Given the description of an element on the screen output the (x, y) to click on. 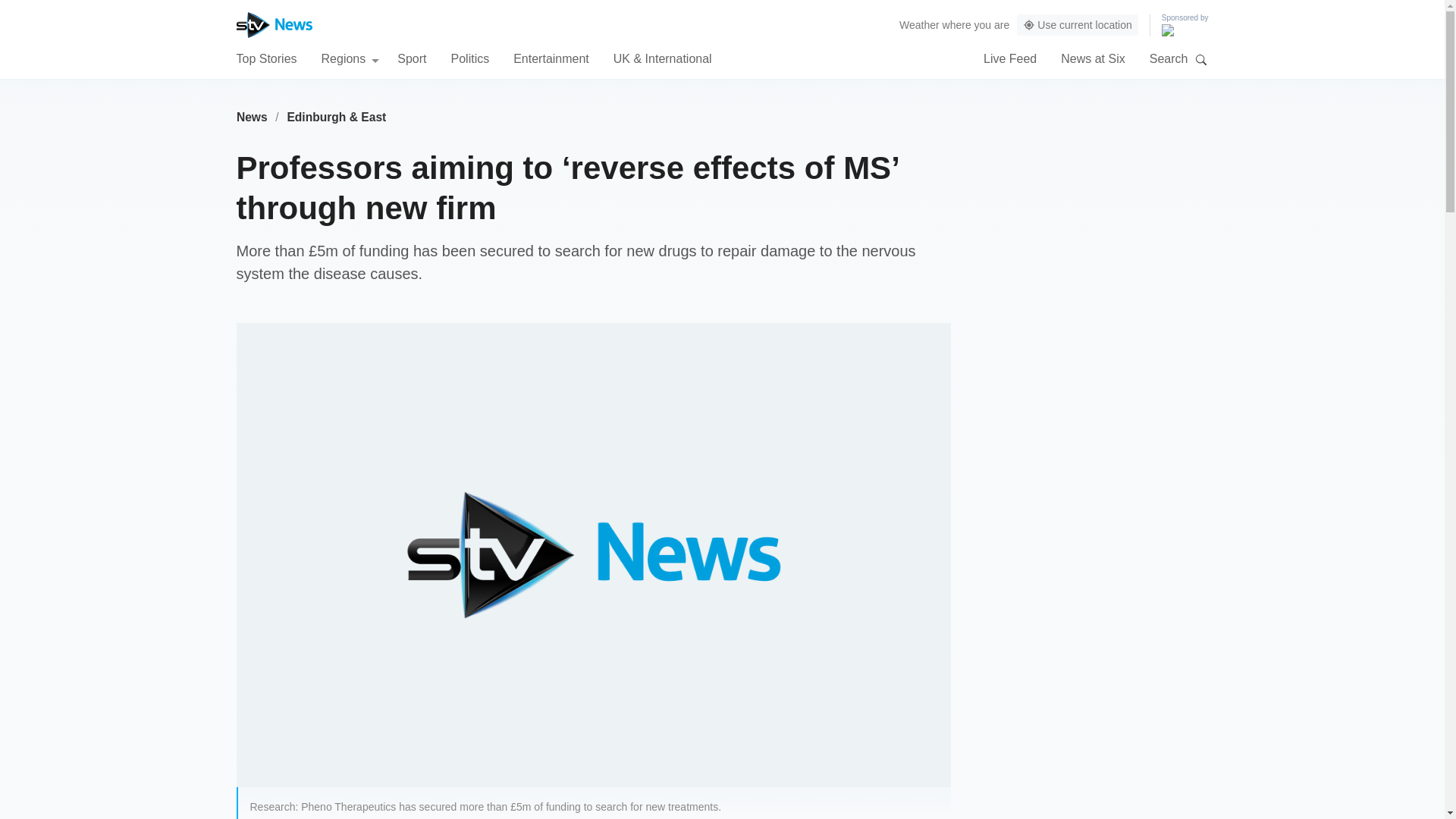
Live Feed (1010, 57)
News at Six (1092, 57)
News (252, 116)
Search (1201, 59)
Politics (469, 57)
Weather (919, 24)
Entertainment (551, 57)
Top Stories (266, 57)
Use current location (1077, 25)
Regions (350, 57)
